Given the description of an element on the screen output the (x, y) to click on. 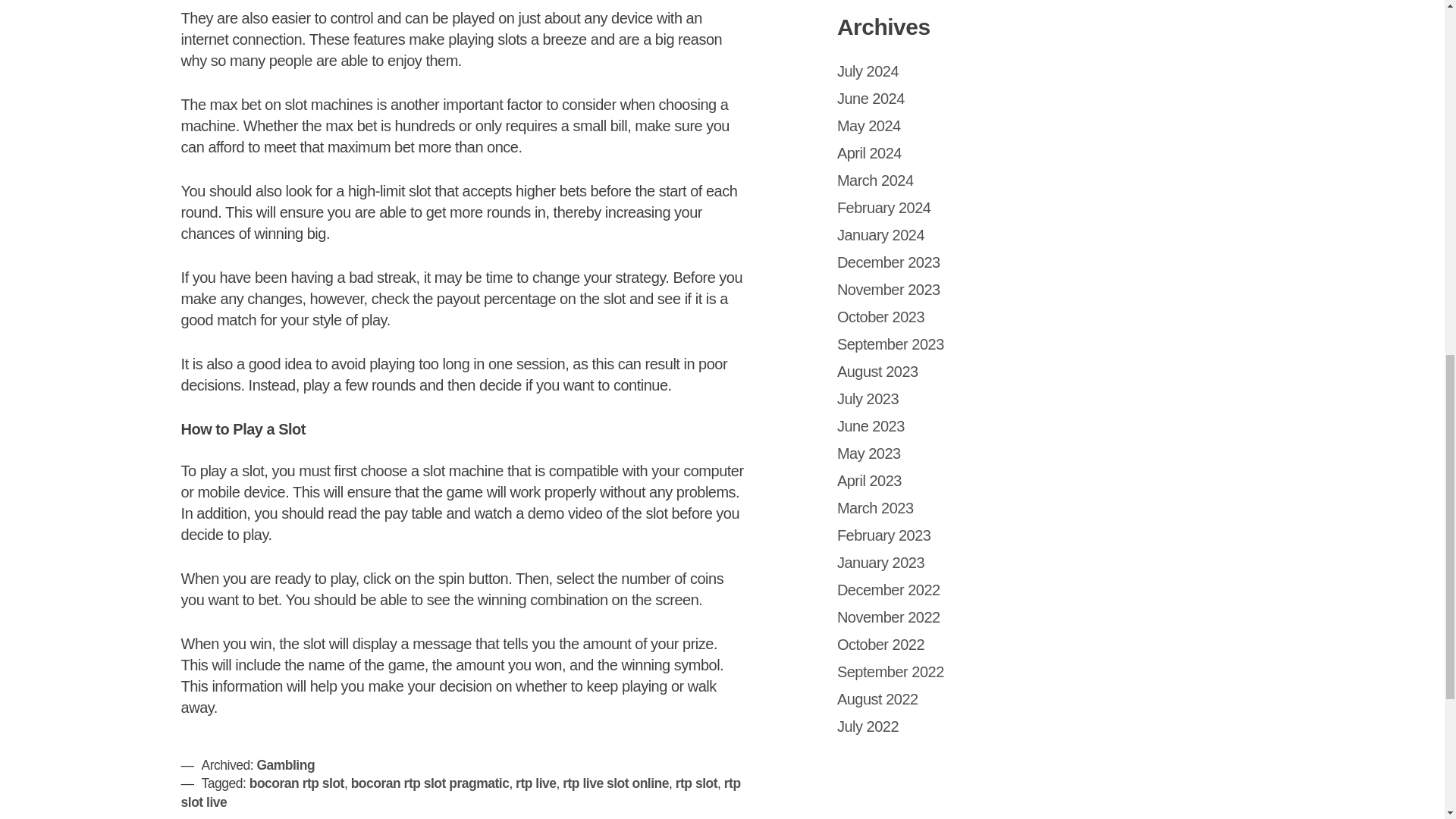
rtp live (535, 783)
May 2024 (869, 125)
May 2023 (869, 453)
July 2023 (867, 398)
March 2024 (875, 180)
Gambling (285, 765)
April 2023 (869, 480)
February 2024 (884, 207)
bocoran rtp slot pragmatic (429, 783)
April 2024 (869, 152)
December 2023 (888, 262)
rtp live slot online (615, 783)
rtp slot (696, 783)
March 2023 (875, 507)
June 2023 (870, 425)
